Given the description of an element on the screen output the (x, y) to click on. 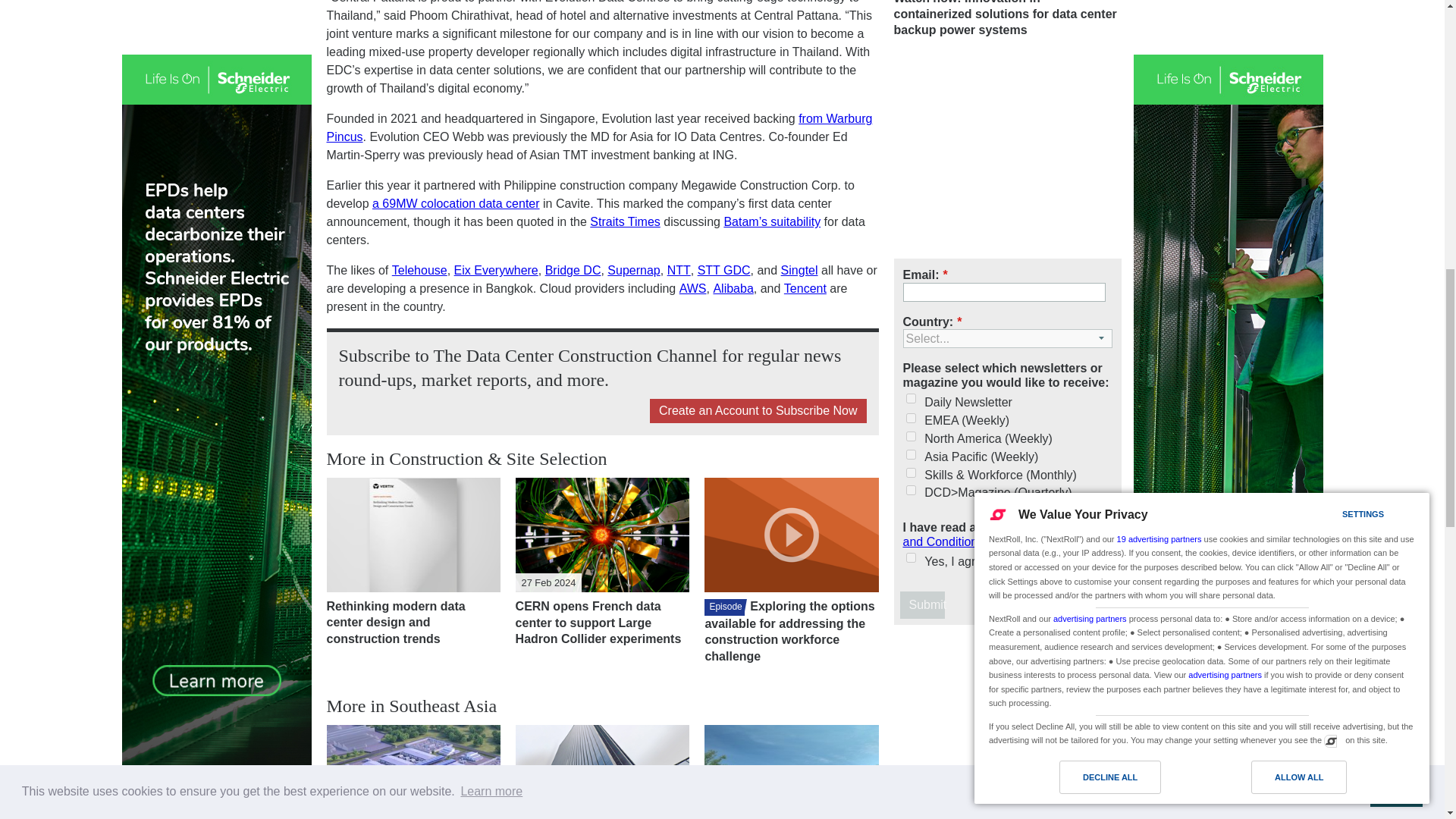
3rd party ad content (1007, 151)
Weekly EMEA newsletter (910, 418)
yes (910, 557)
Daily global newsletter (910, 398)
NLWOS (910, 471)
3rd party ad content (1007, 728)
Weekly North American newsletter (910, 436)
Fortnightly Asia newsletter (910, 454)
DMAG (910, 490)
